Given the description of an element on the screen output the (x, y) to click on. 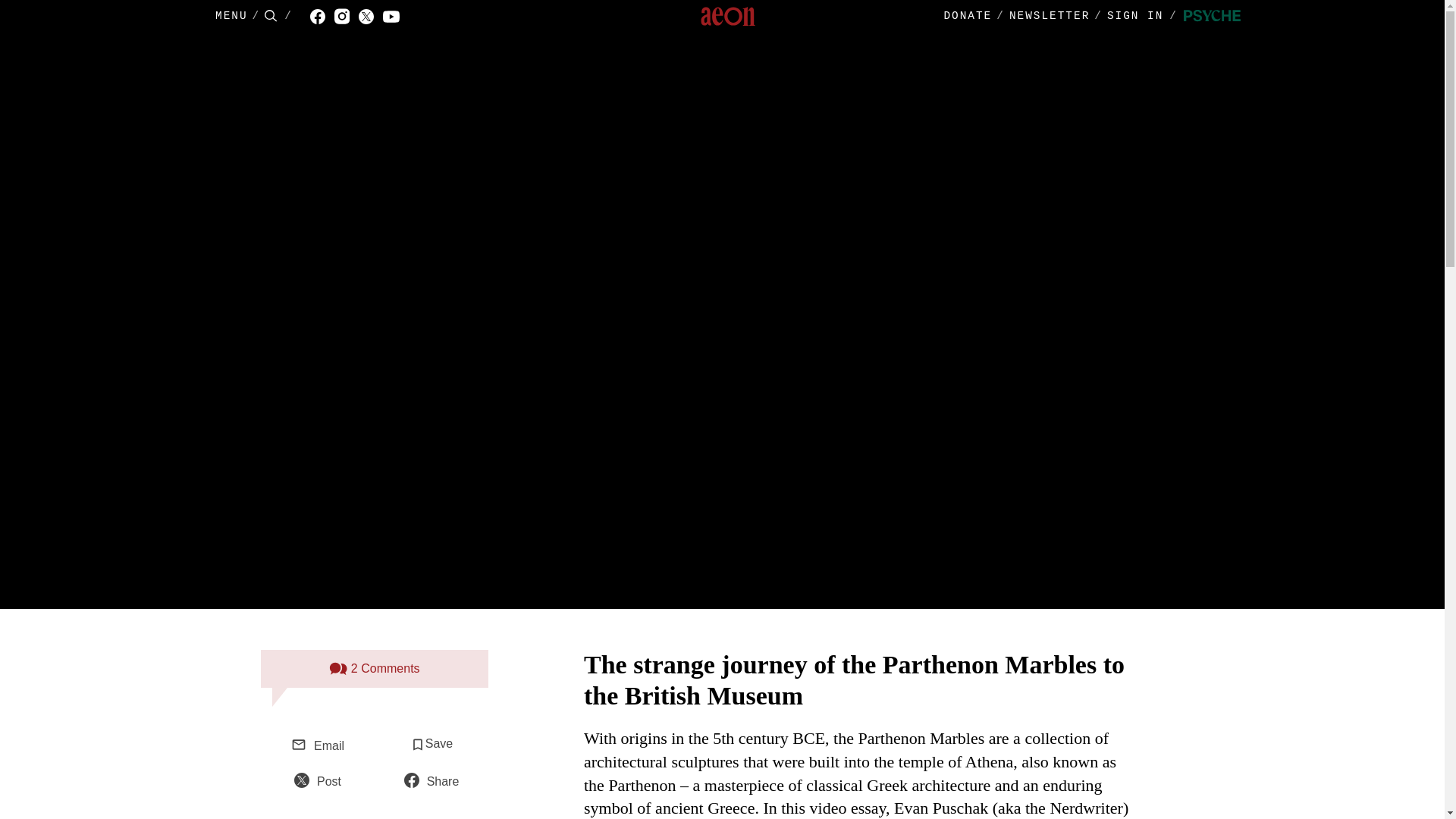
Psyche (1211, 17)
DONATE (967, 15)
Sign in (1144, 16)
